Given the description of an element on the screen output the (x, y) to click on. 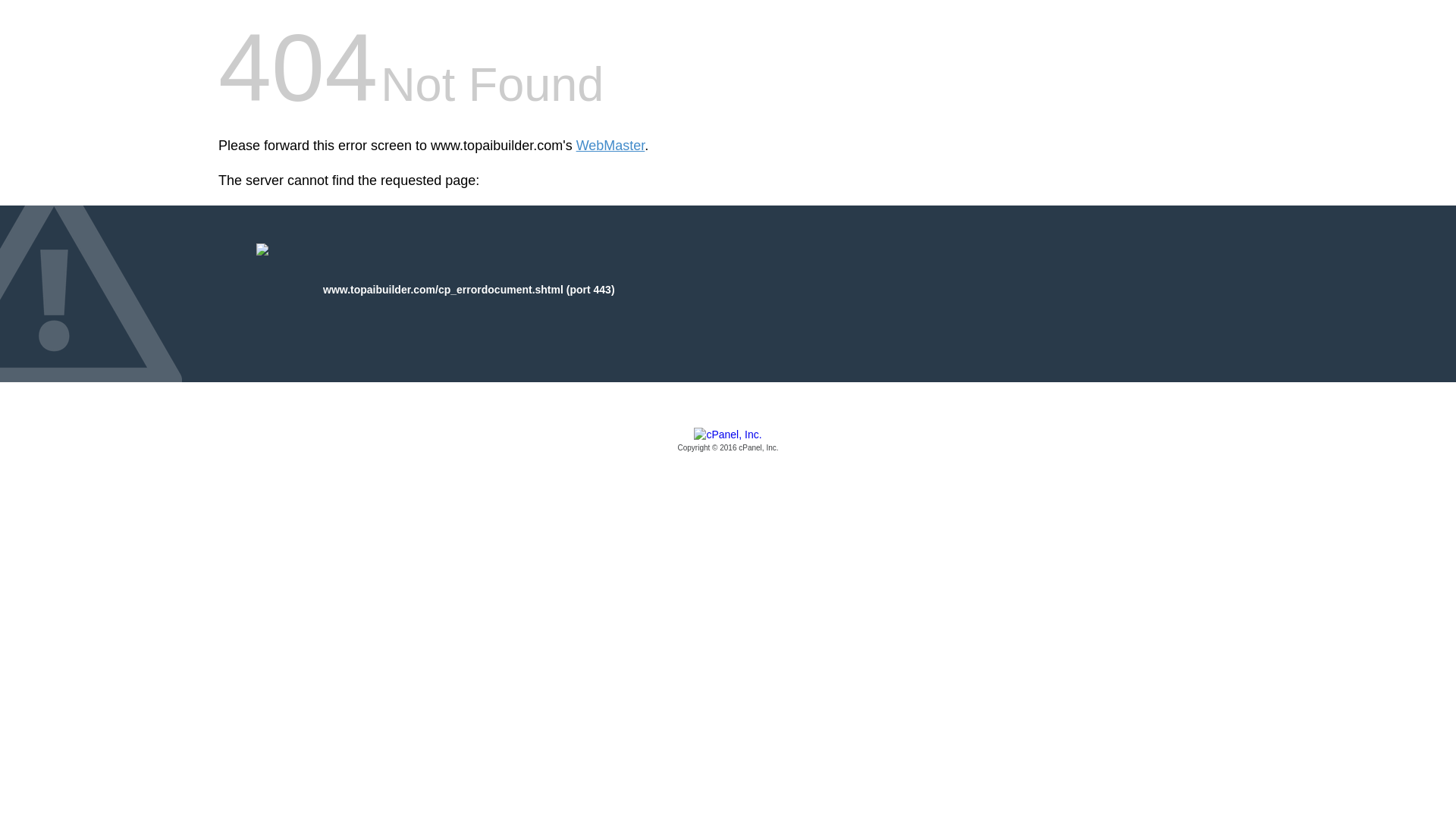
WebMaster (610, 145)
cPanel, Inc. (727, 440)
